Given the description of an element on the screen output the (x, y) to click on. 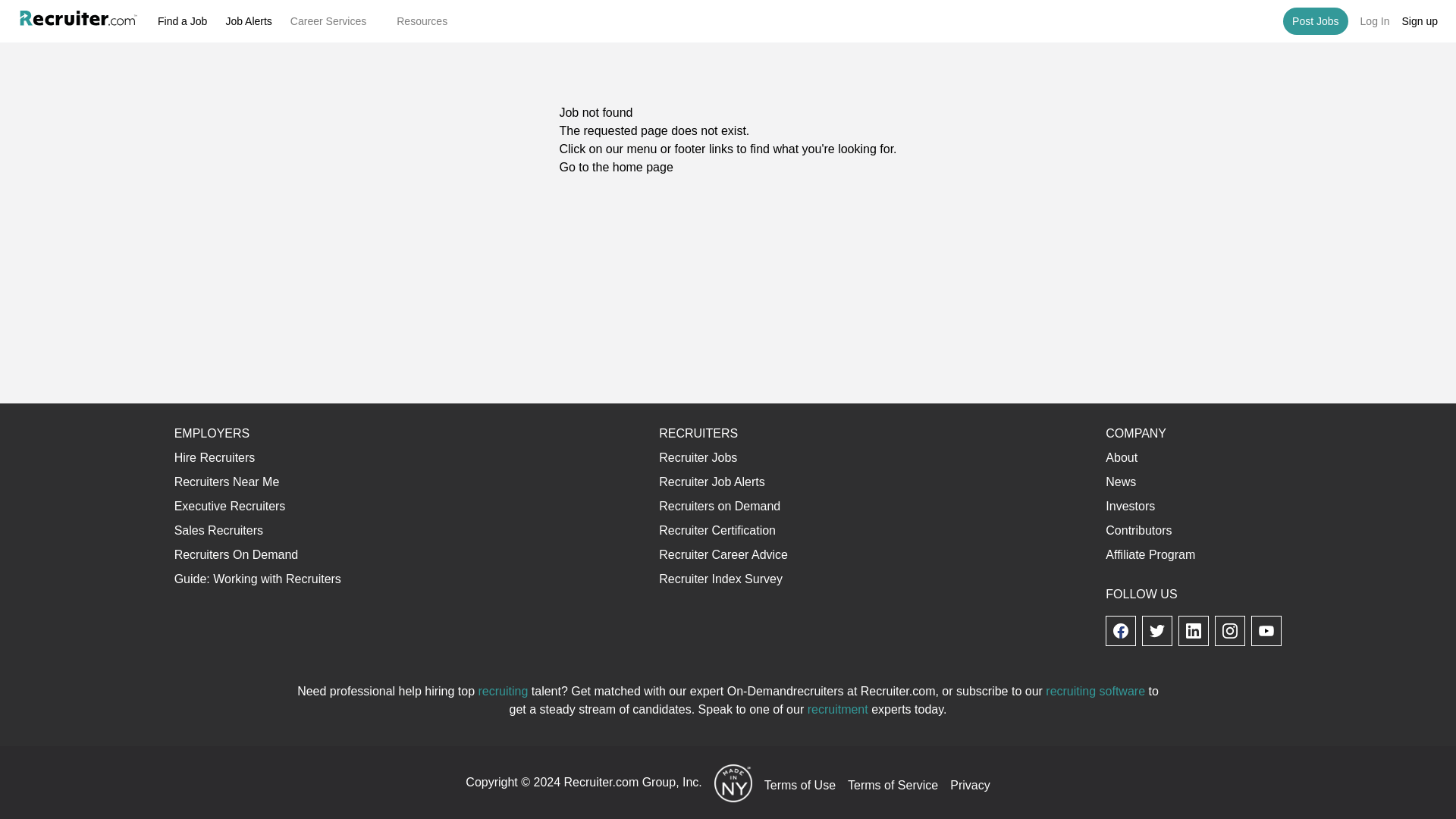
Recruiter Job Alerts (712, 481)
Recruiters Near Me (226, 481)
recruitment (837, 708)
News (1120, 481)
Career Services (333, 20)
About (1121, 457)
Sales Recruiters (218, 530)
Recruiters on Demand (719, 505)
Investors (1129, 505)
Resources (428, 20)
Post Jobs (1315, 21)
Job Alerts (247, 20)
Go to the home page (615, 166)
Terms of Use (799, 784)
Recruiter Index Survey (721, 578)
